Given the description of an element on the screen output the (x, y) to click on. 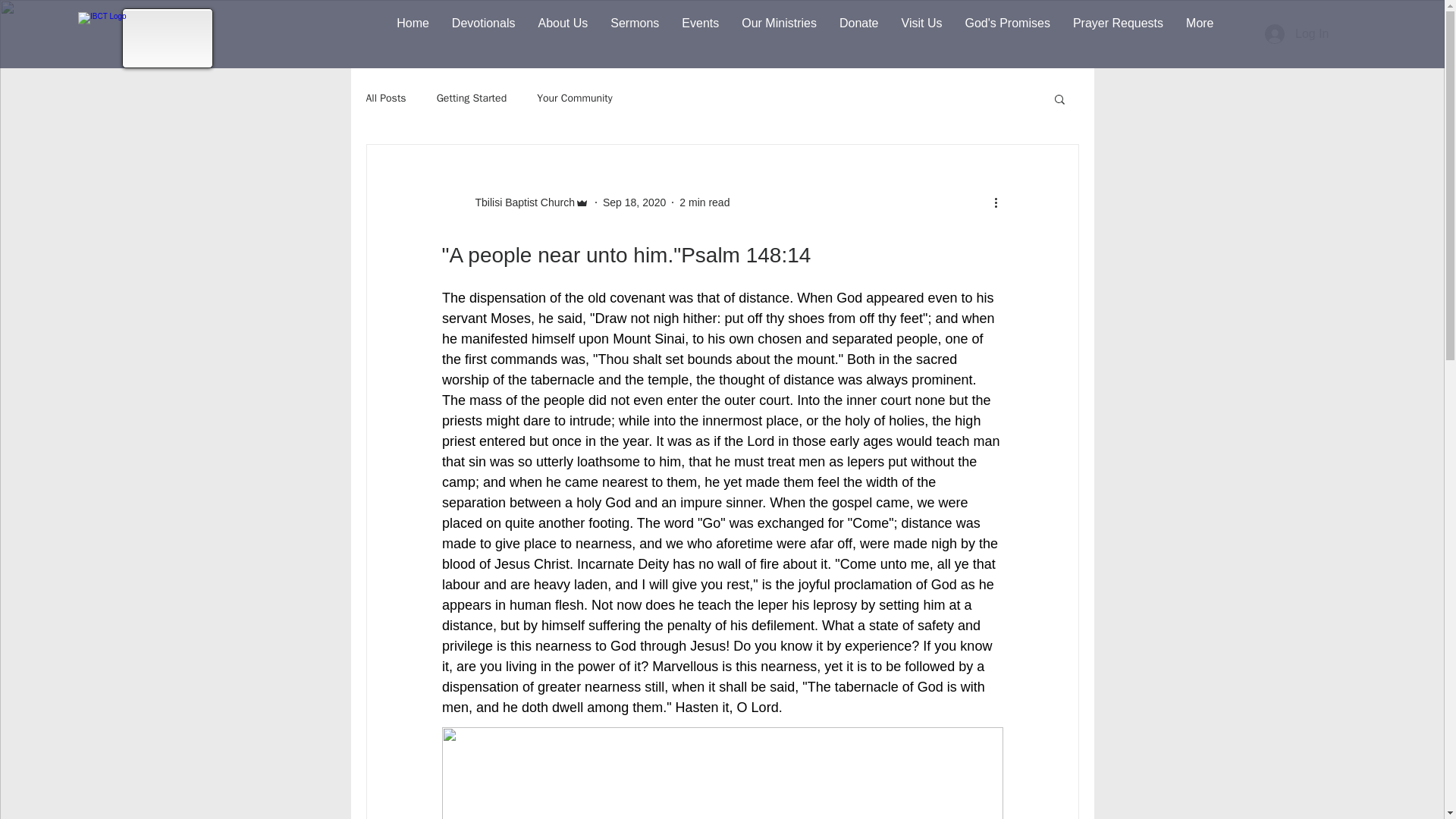
Events (699, 30)
Tbilisi Baptist Church (520, 201)
Visit Us (921, 30)
Log In (1296, 33)
All Posts (385, 98)
Getting Started (471, 98)
Prayer Requests (1117, 30)
Donate (858, 30)
Your Community (574, 98)
Our Ministries (779, 30)
Sep 18, 2020 (633, 201)
God's Promises (1007, 30)
About Us (561, 30)
Devotionals (484, 30)
Tbilisi Baptist Church (515, 202)
